Given the description of an element on the screen output the (x, y) to click on. 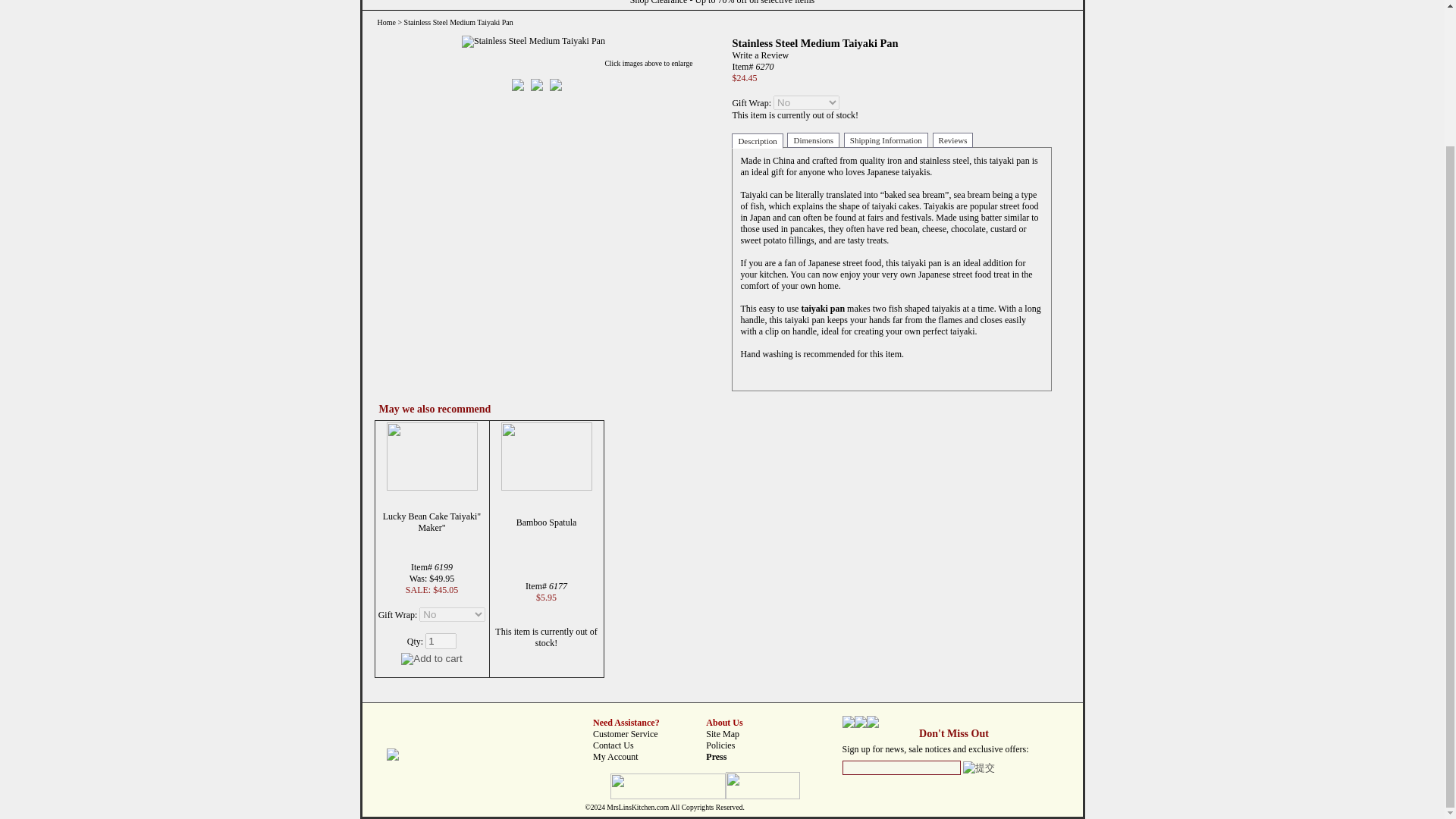
1 (441, 640)
